Given the description of an element on the screen output the (x, y) to click on. 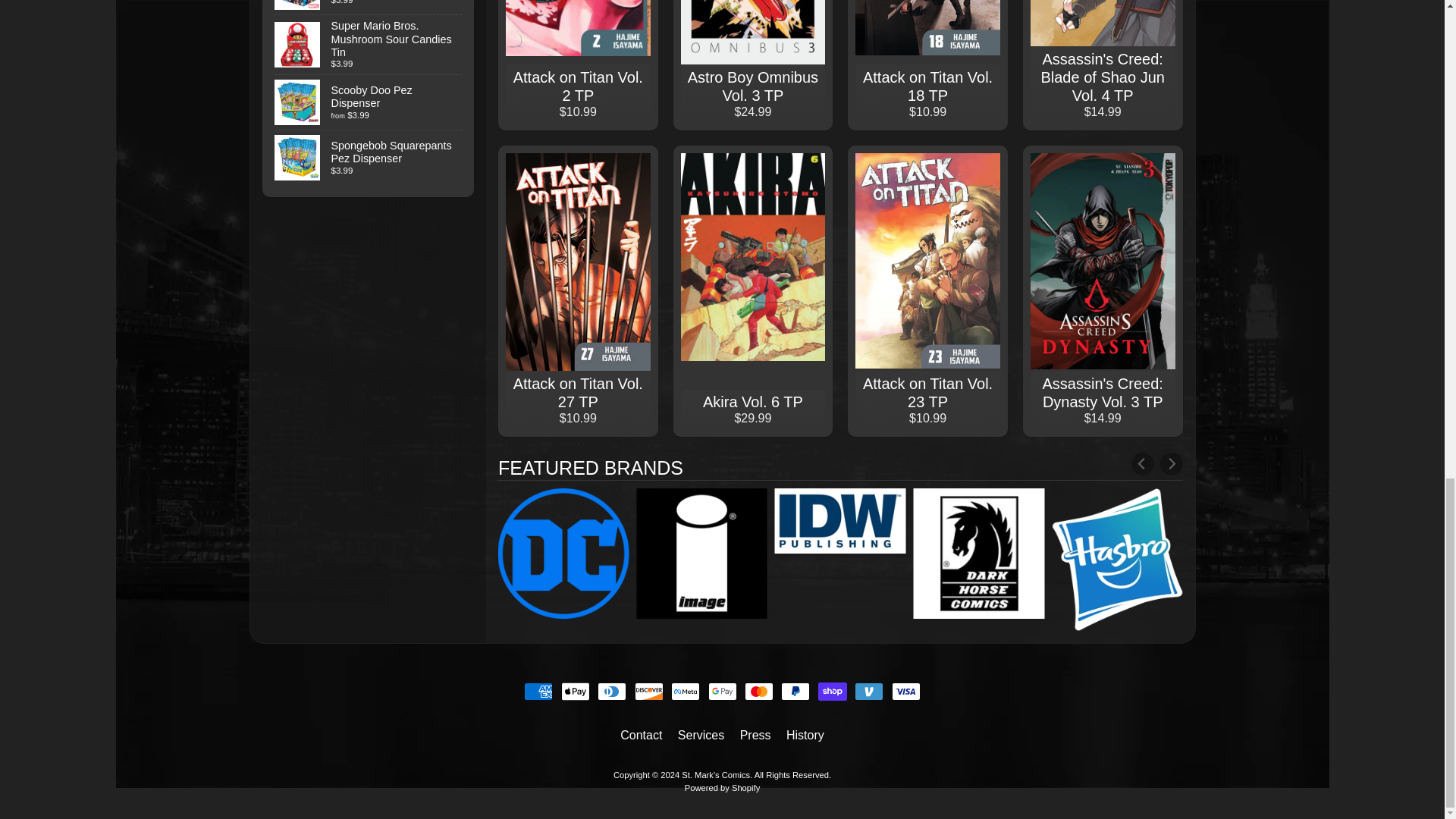
Scooby Doo Pez Dispenser (369, 102)
Attack on Titan Vol. 18 TP (927, 64)
Assassin's Creed: Blade of Shao Jun Vol. 4 TP (1102, 64)
Meta Pay (685, 691)
Marvel Comics Pez Dispenser (369, 7)
Discover (648, 691)
Mastercard (758, 691)
PayPal (794, 691)
American Express (538, 691)
Shop Pay (832, 691)
